Given the description of an element on the screen output the (x, y) to click on. 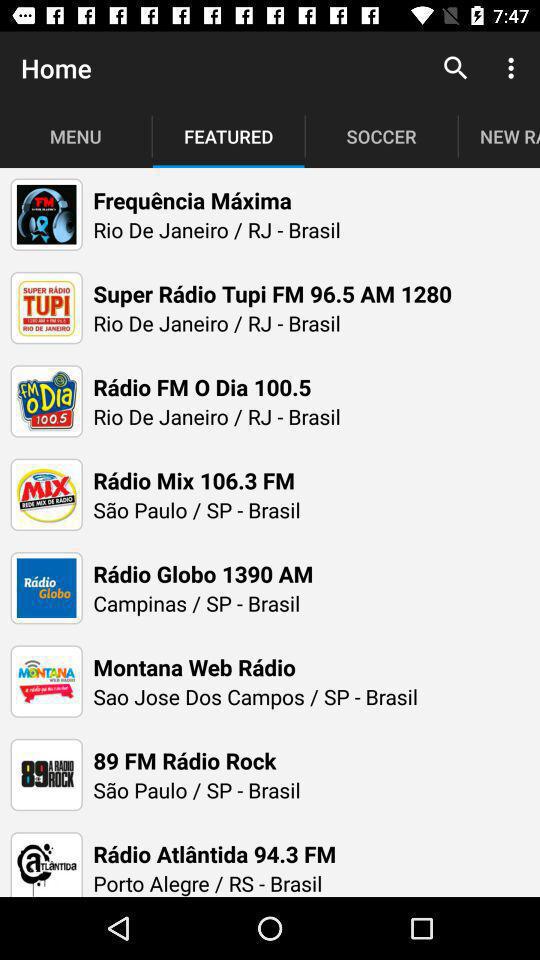
choose the item next to the soccer icon (455, 67)
